Given the description of an element on the screen output the (x, y) to click on. 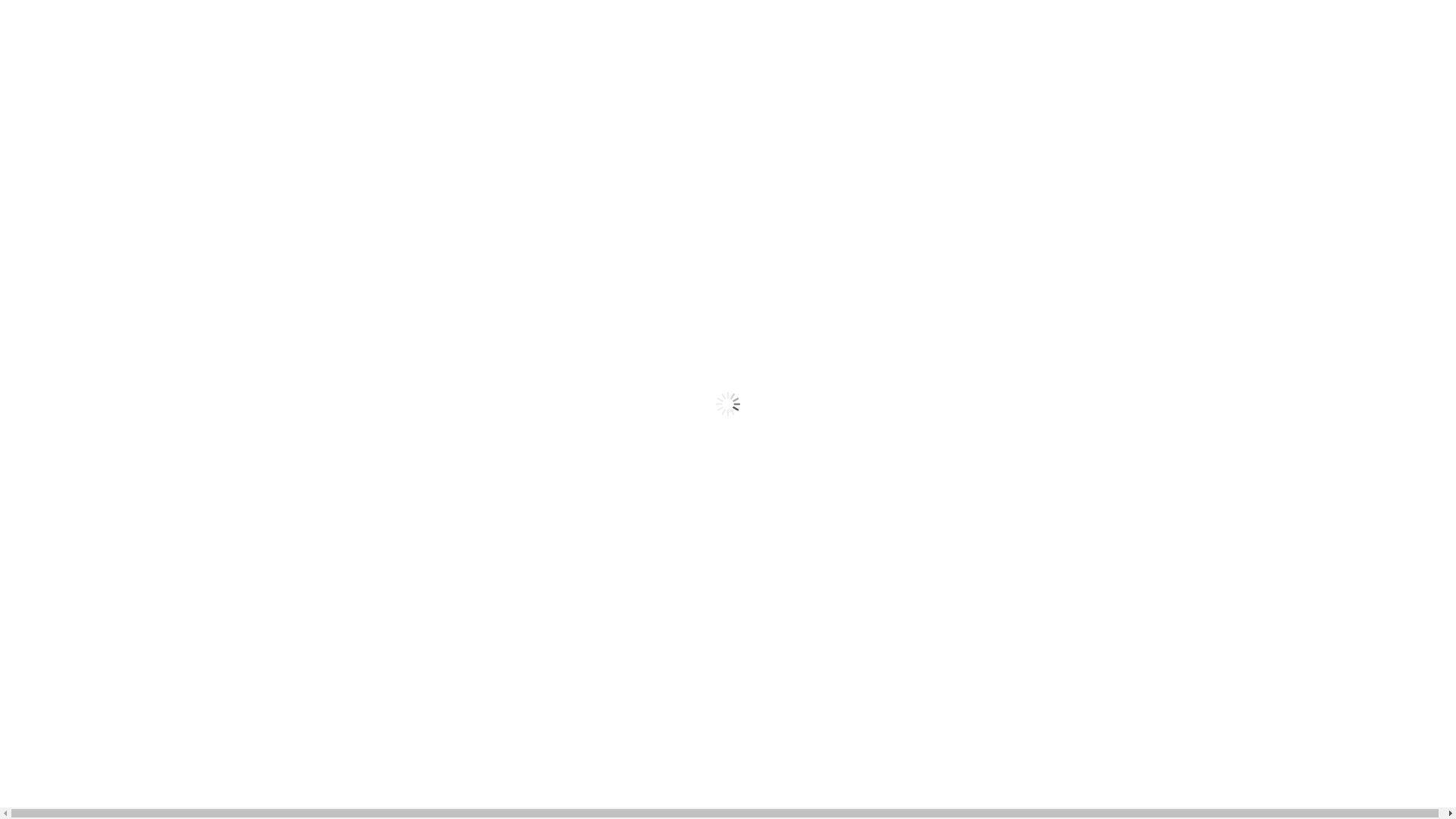
Search Engine Submission - AddMe Element type: text (94, 12)
